Given the description of an element on the screen output the (x, y) to click on. 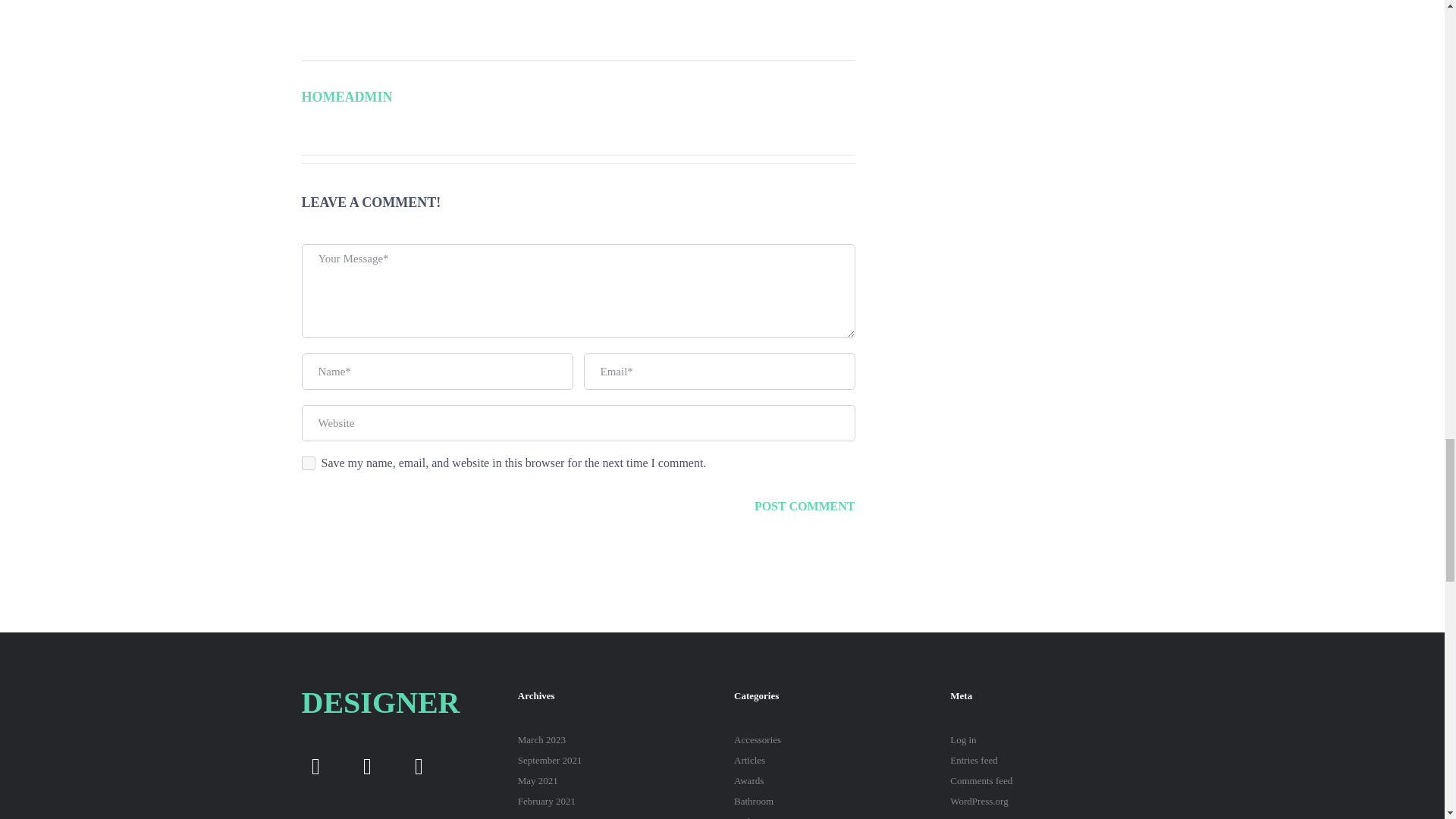
yes (308, 463)
Post Comment (805, 506)
